Given the description of an element on the screen output the (x, y) to click on. 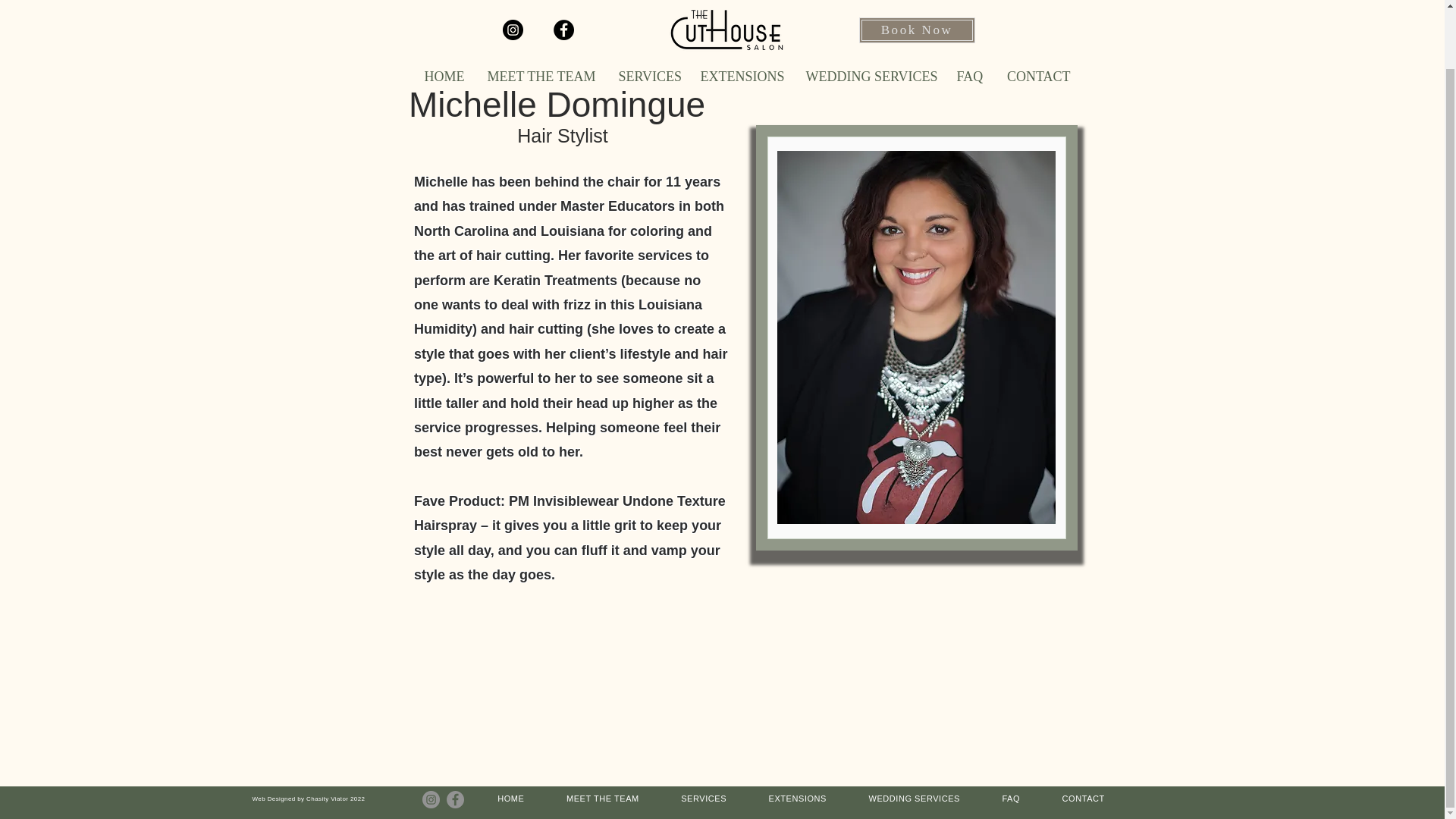
WEDDING SERVICES (869, 13)
EXTENSIONS (797, 798)
EXTENSIONS (740, 13)
MEET THE TEAM (602, 798)
HOME (510, 798)
WEDDING SERVICES (914, 798)
HOME (443, 13)
SERVICES (647, 13)
FAQ (1011, 798)
CONTACT (1036, 13)
FAQ (968, 13)
SERVICES (703, 798)
CONTACT (1082, 798)
MEET THE TEAM (541, 13)
